Given the description of an element on the screen output the (x, y) to click on. 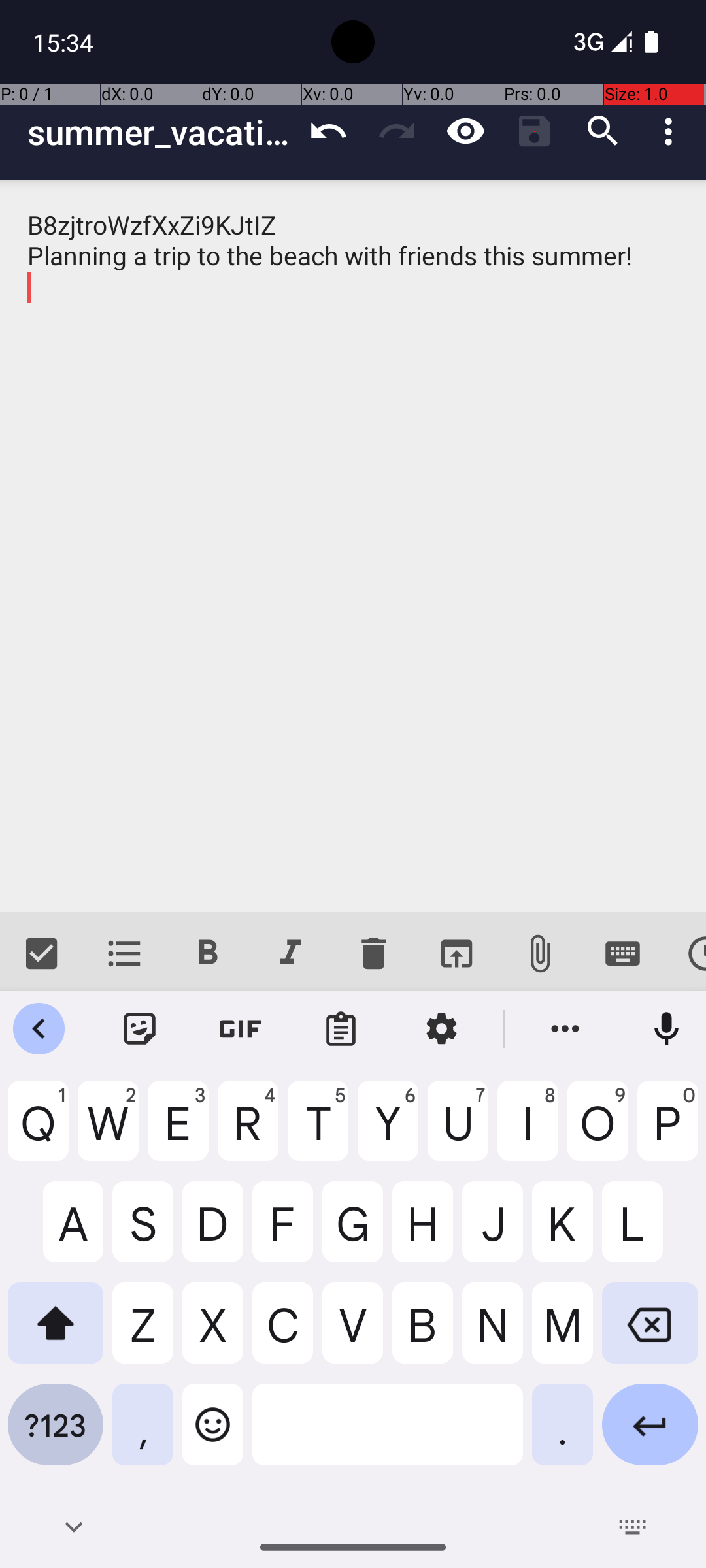
summer_vacation_plans_HRXn Element type: android.widget.TextView (160, 131)
B8zjtroWzfXxZi9KJtIZ
Planning a trip to the beach with friends this summer!
 Element type: android.widget.EditText (353, 545)
